Given the description of an element on the screen output the (x, y) to click on. 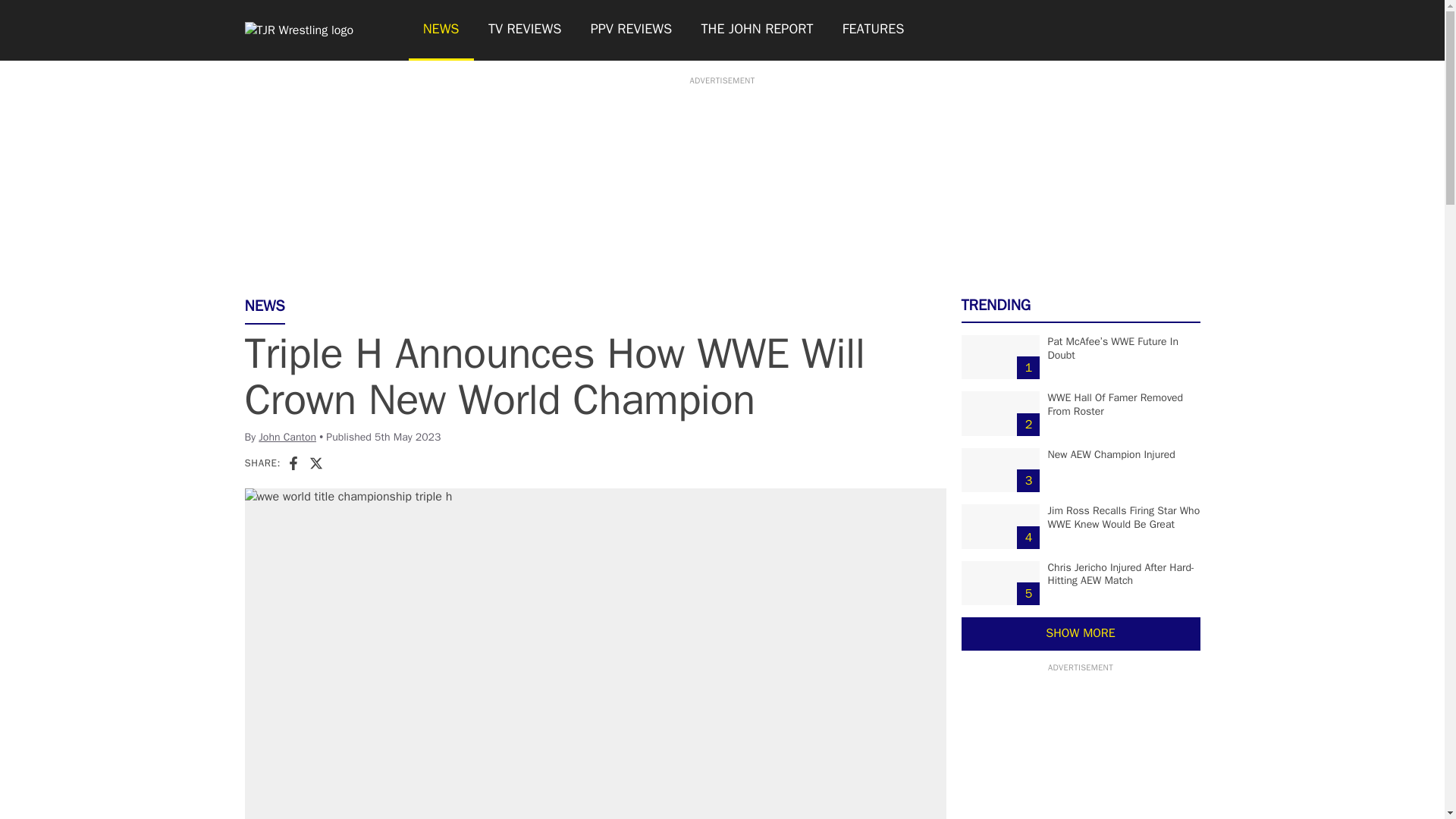
X (315, 463)
Facebook (292, 463)
THE JOHN REPORT (756, 30)
X (315, 462)
NEWS (440, 30)
PPV REVIEWS (631, 30)
FEATURES (873, 30)
TV REVIEWS (525, 30)
John Canton (287, 436)
Facebook (292, 462)
